Given the description of an element on the screen output the (x, y) to click on. 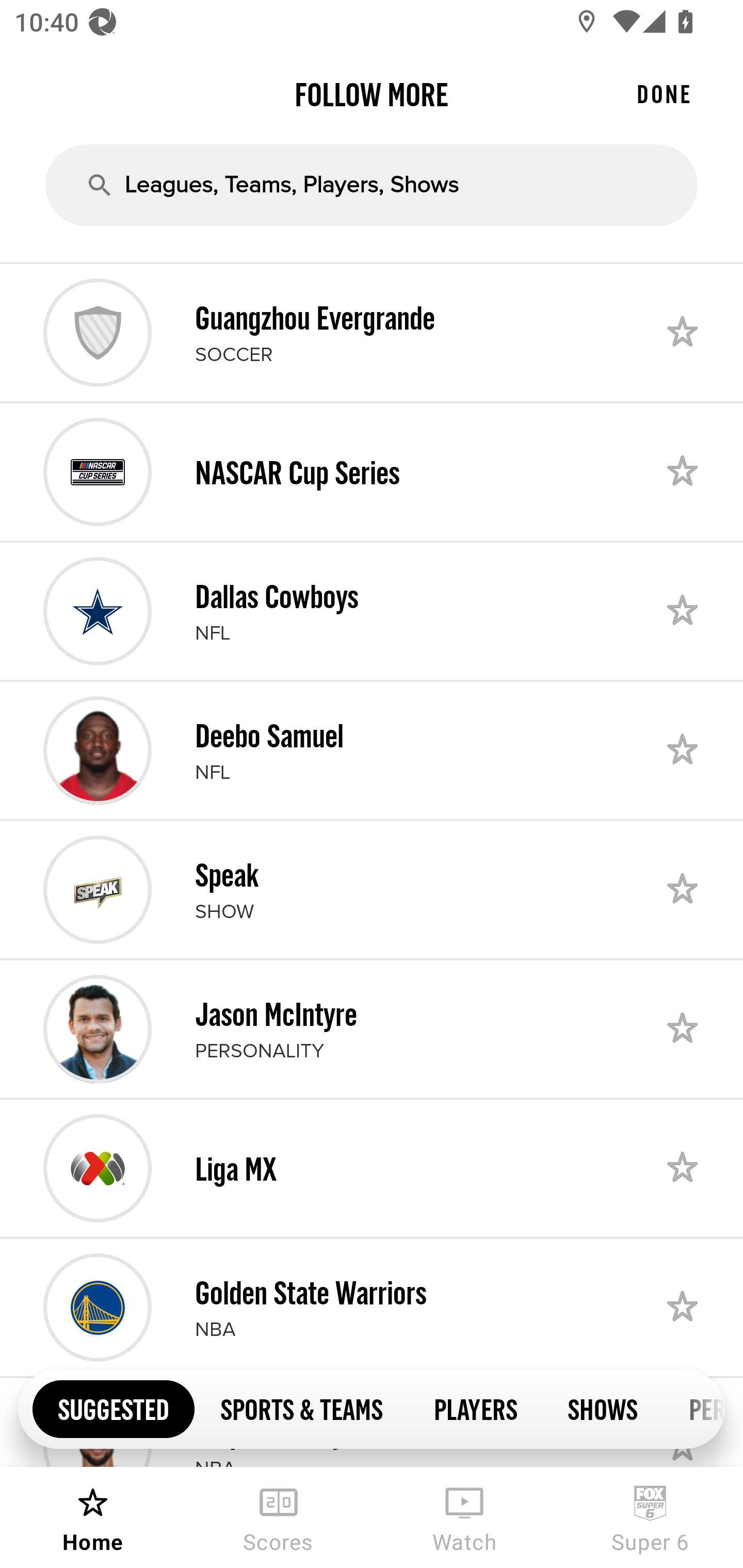
DONE (663, 93)
Leagues, Teams, Players, Shows (371, 184)
Guangzhou Evergrande SOCCER (371, 332)
NASCAR Cup Series (371, 471)
Dallas Cowboys NFL (371, 611)
Deebo Samuel NFL (371, 750)
Speak SHOW (371, 889)
Jason McIntyre PERSONALITY (371, 1028)
Liga MX (371, 1168)
Golden State Warriors NBA (371, 1307)
SPORTS & TEAMS (300, 1408)
PLAYERS (474, 1408)
SHOWS (602, 1408)
PERSONALITIES (693, 1408)
Scores (278, 1517)
Watch (464, 1517)
Super 6 (650, 1517)
